Given the description of an element on the screen output the (x, y) to click on. 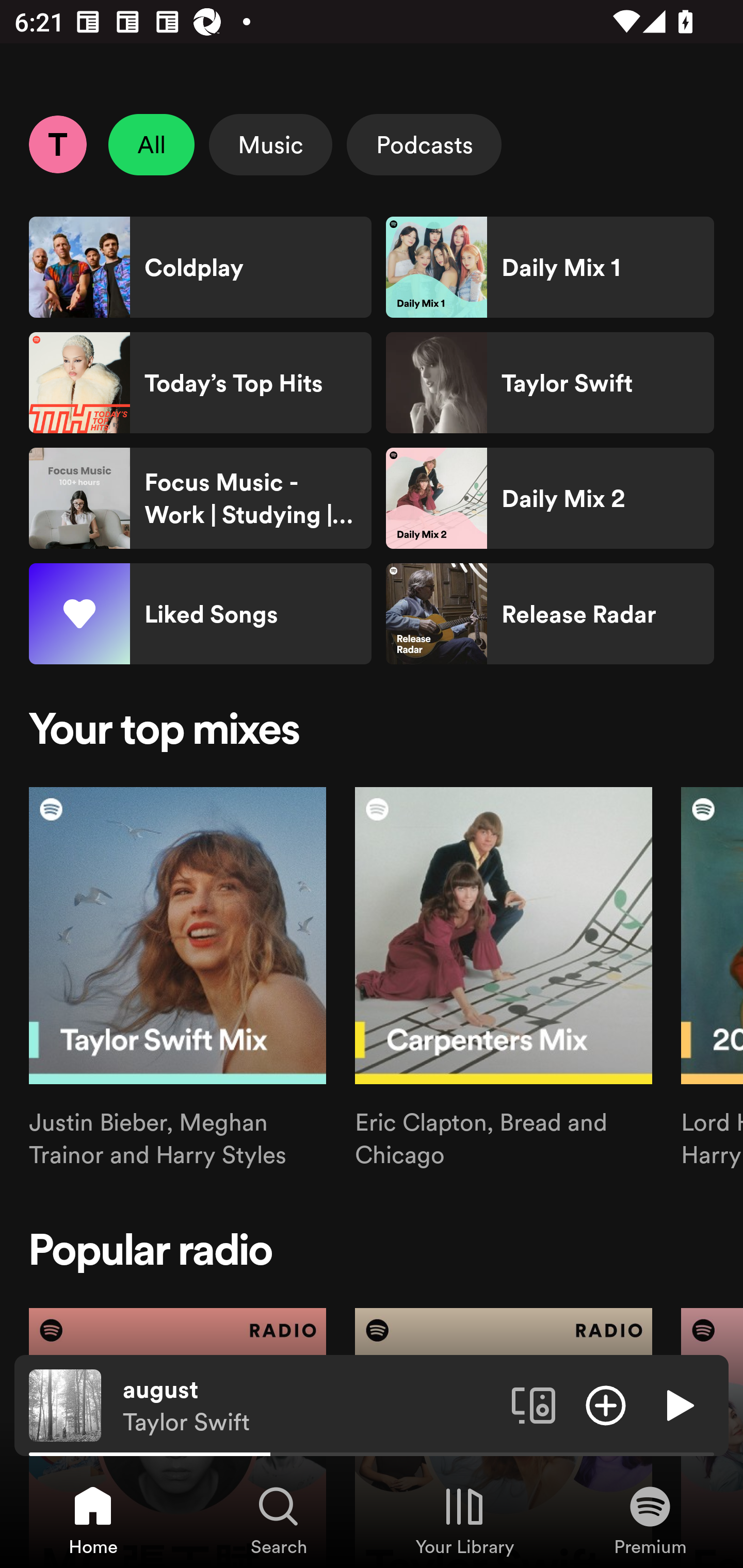
Profile (57, 144)
All Unselect All (151, 144)
Music Select Music (270, 144)
Podcasts Select Podcasts (423, 144)
Coldplay Shortcut Coldplay (199, 267)
Daily Mix 1 Shortcut Daily Mix 1 (549, 267)
Today’s Top Hits Shortcut Today’s Top Hits (199, 382)
Taylor Swift Shortcut Taylor Swift (549, 382)
Daily Mix 2 Shortcut Daily Mix 2 (549, 498)
Liked Songs Shortcut Liked Songs (199, 613)
Release Radar Shortcut Release Radar (549, 613)
august Taylor Swift (309, 1405)
The cover art of the currently playing track (64, 1404)
Connect to a device. Opens the devices menu (533, 1404)
Add item (605, 1404)
Play (677, 1404)
Home, Tab 1 of 4 Home Home (92, 1519)
Search, Tab 2 of 4 Search Search (278, 1519)
Your Library, Tab 3 of 4 Your Library Your Library (464, 1519)
Premium, Tab 4 of 4 Premium Premium (650, 1519)
